Given the description of an element on the screen output the (x, y) to click on. 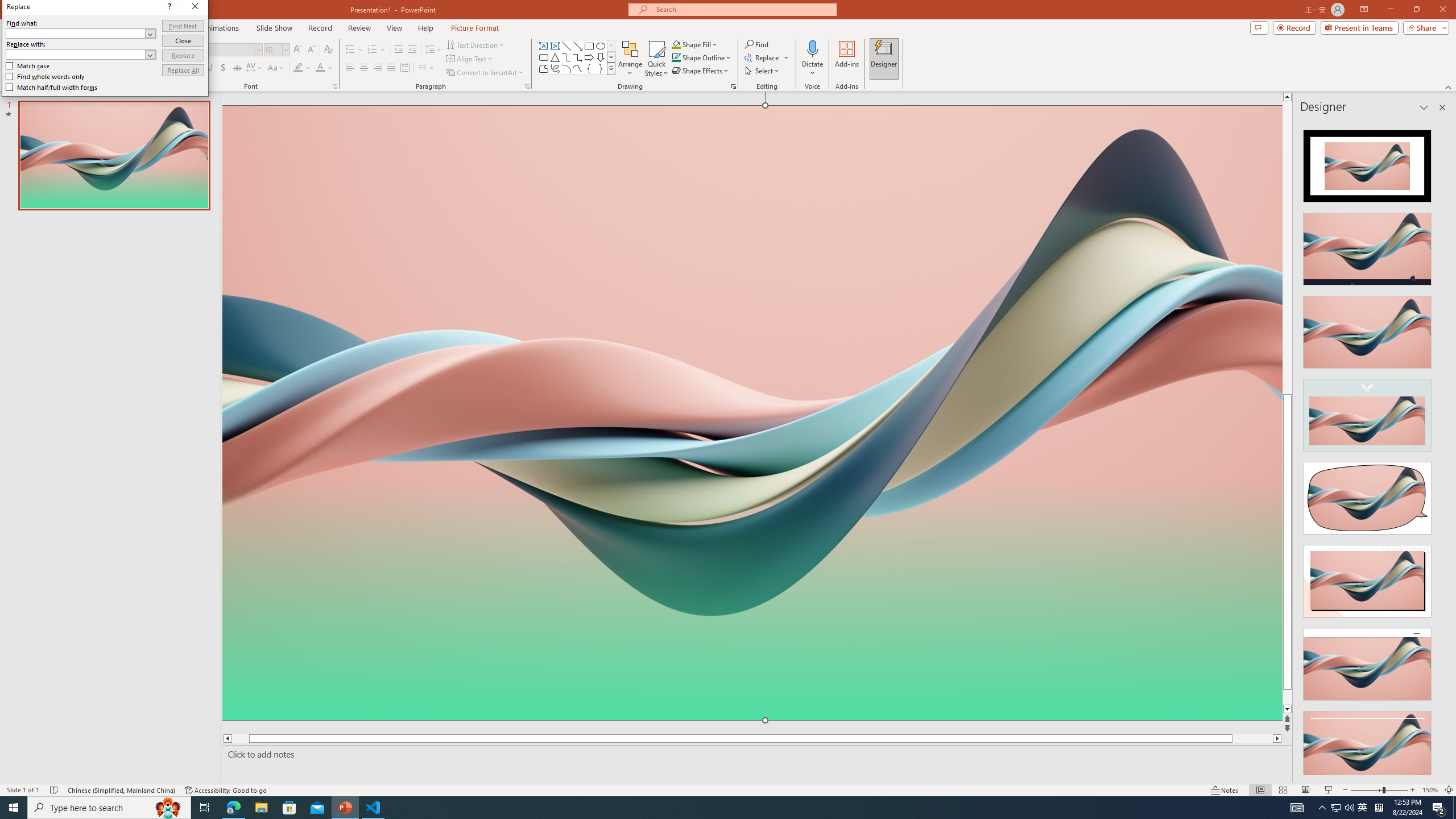
Replace (360, 180)
